Given the description of an element on the screen output the (x, y) to click on. 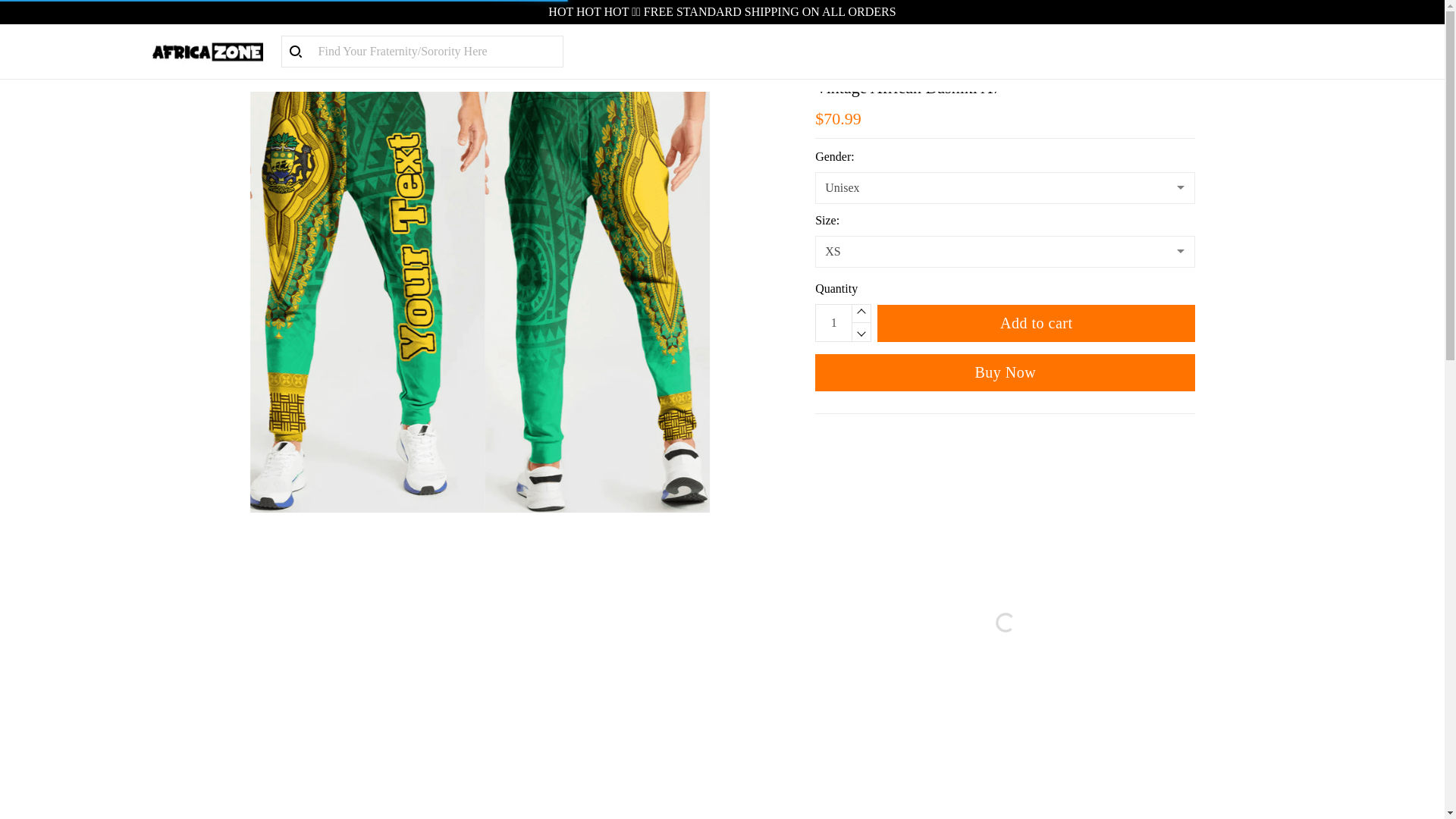
1 (833, 322)
Buy Now (1005, 372)
Add to cart (1036, 323)
